Given the description of an element on the screen output the (x, y) to click on. 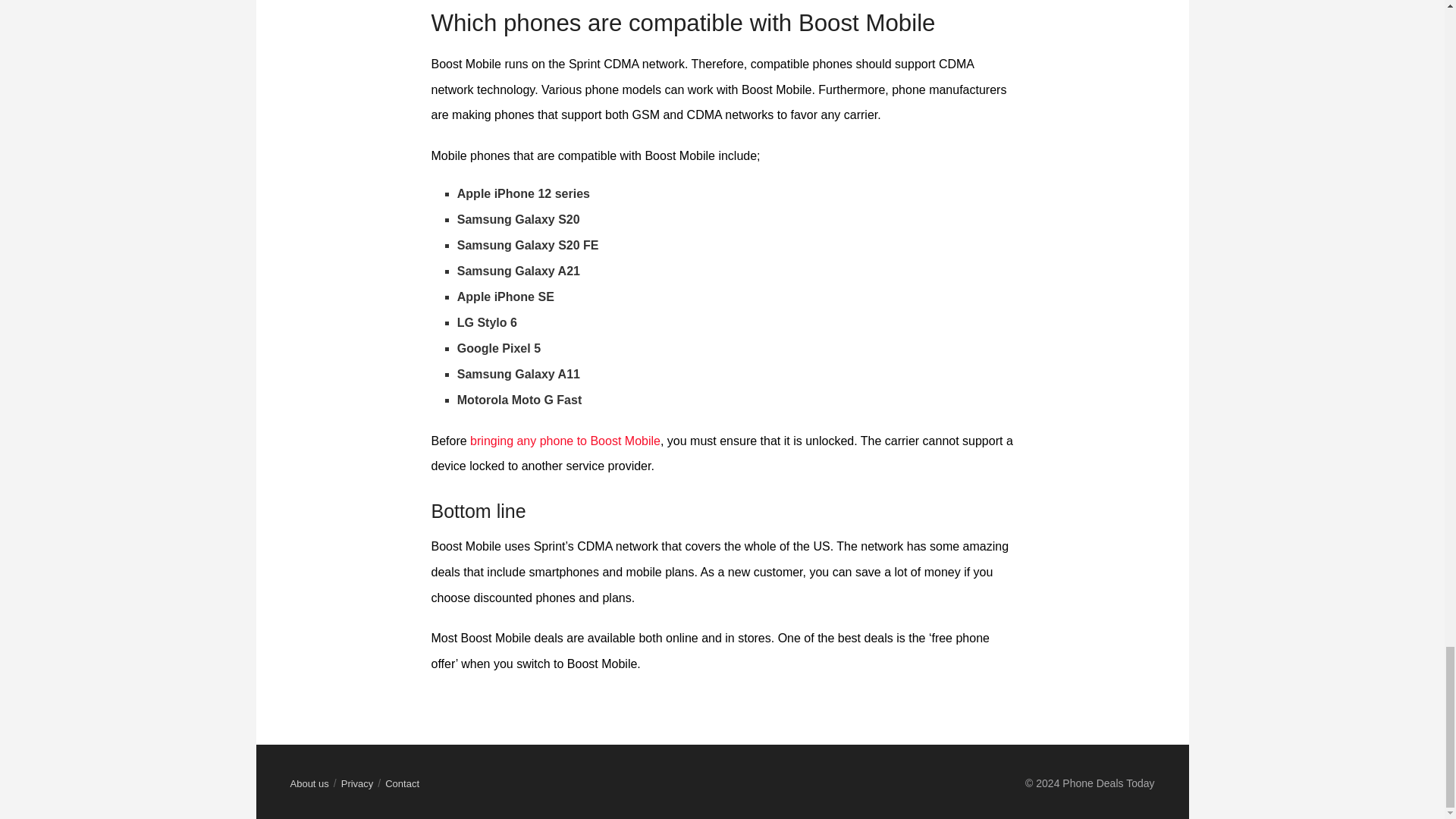
Contact (402, 783)
Privacy (357, 783)
About us (309, 783)
bringing any phone to Boost Mobile (565, 440)
